Given the description of an element on the screen output the (x, y) to click on. 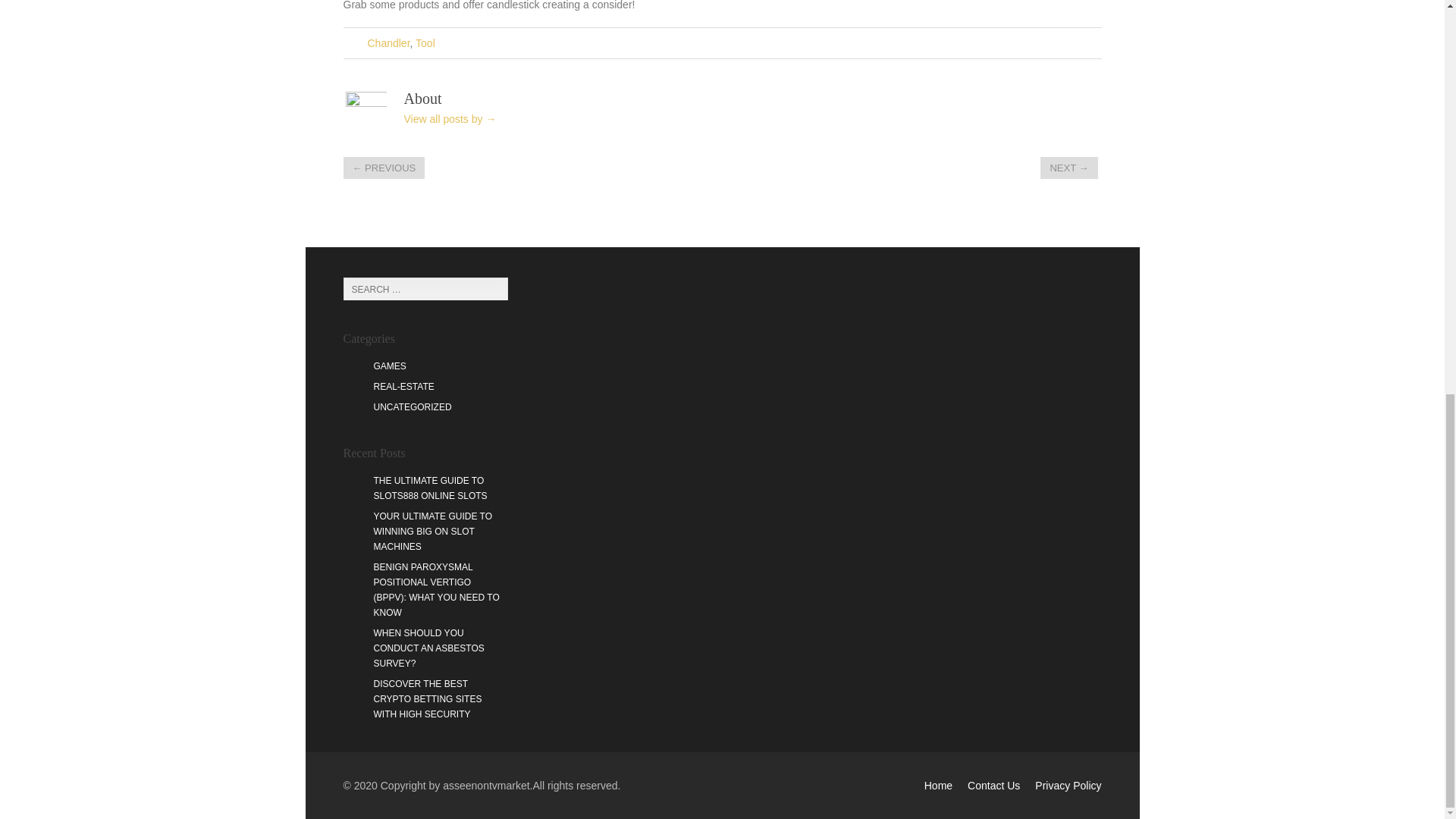
Home (938, 785)
Search for: (424, 288)
YOUR ULTIMATE GUIDE TO WINNING BIG ON SLOT MACHINES (432, 531)
REAL-ESTATE (402, 386)
UNCATEGORIZED (411, 407)
THE ULTIMATE GUIDE TO SLOTS888 ONLINE SLOTS (429, 488)
Search (491, 289)
Search (491, 289)
Chandler (387, 42)
Tool (424, 42)
